Given the description of an element on the screen output the (x, y) to click on. 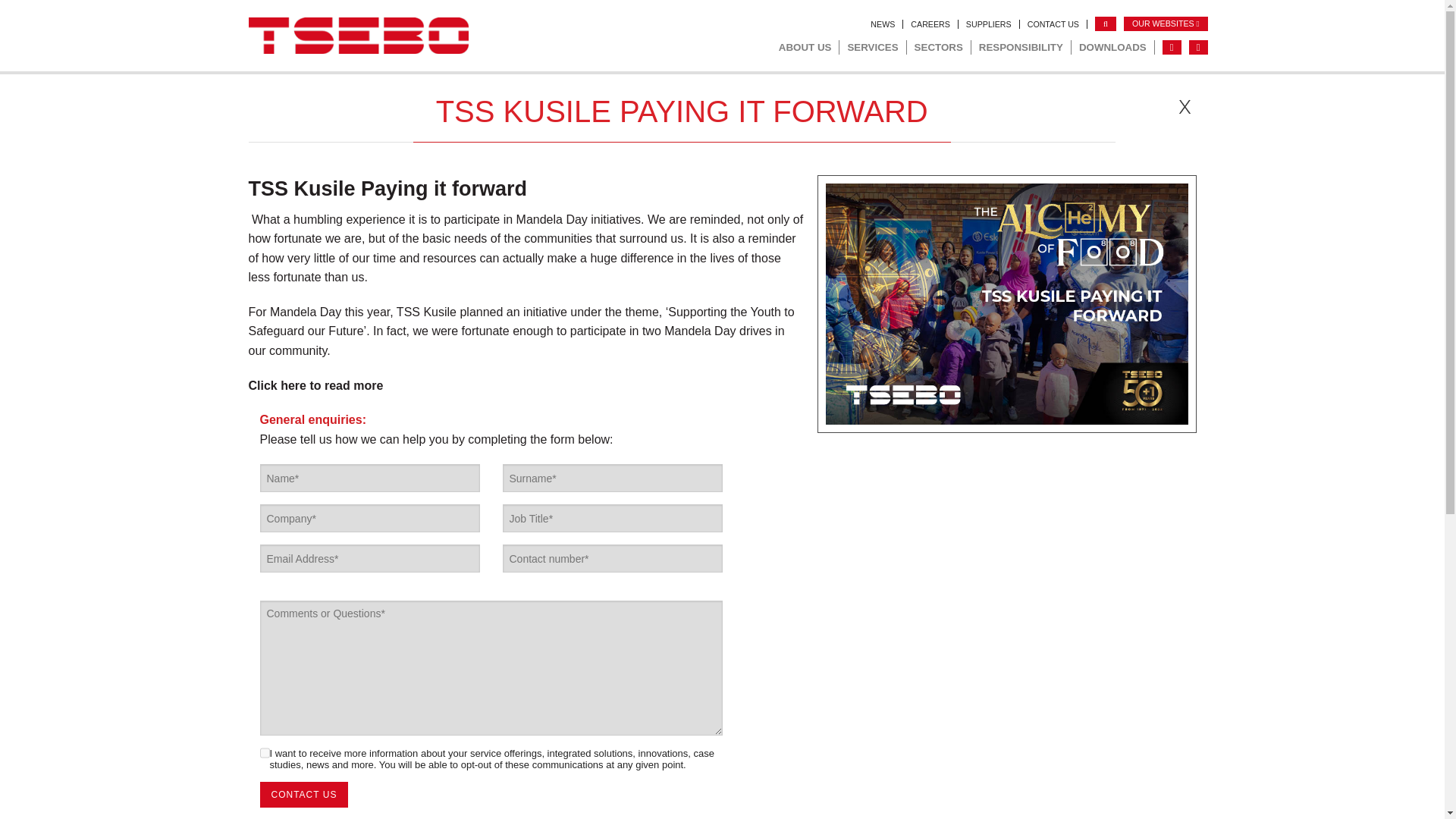
CONTACT US (1053, 23)
OUR WEBSITES (1166, 23)
ABOUT US (805, 47)
false (264, 752)
CAREERS (930, 23)
DOWNLOADS (1112, 47)
SERVICES (872, 47)
SUPPLIERS (988, 23)
NEWS (882, 23)
RESPONSIBILITY (1020, 47)
